Given the description of an element on the screen output the (x, y) to click on. 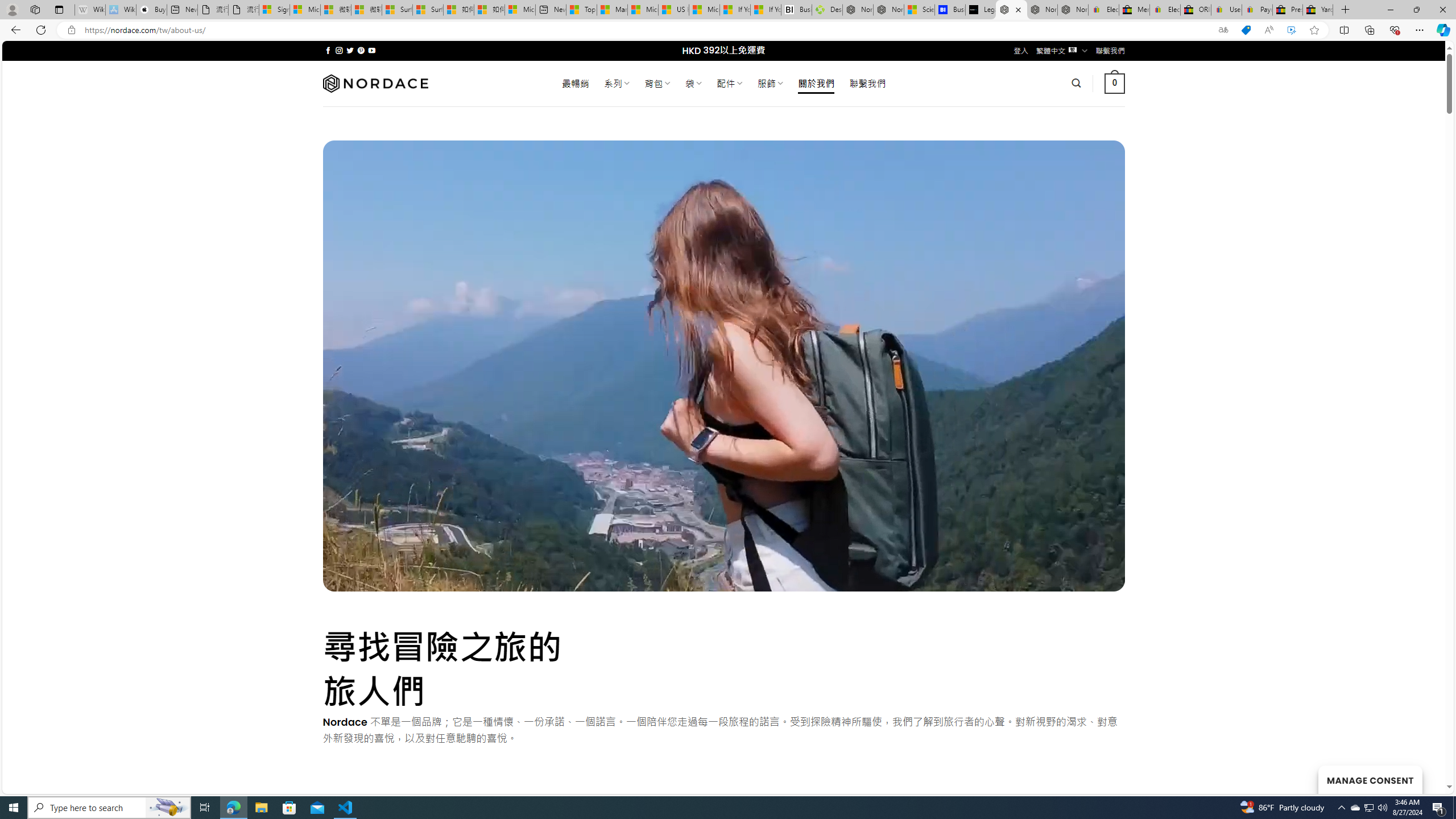
 0  (1115, 83)
